Given the description of an element on the screen output the (x, y) to click on. 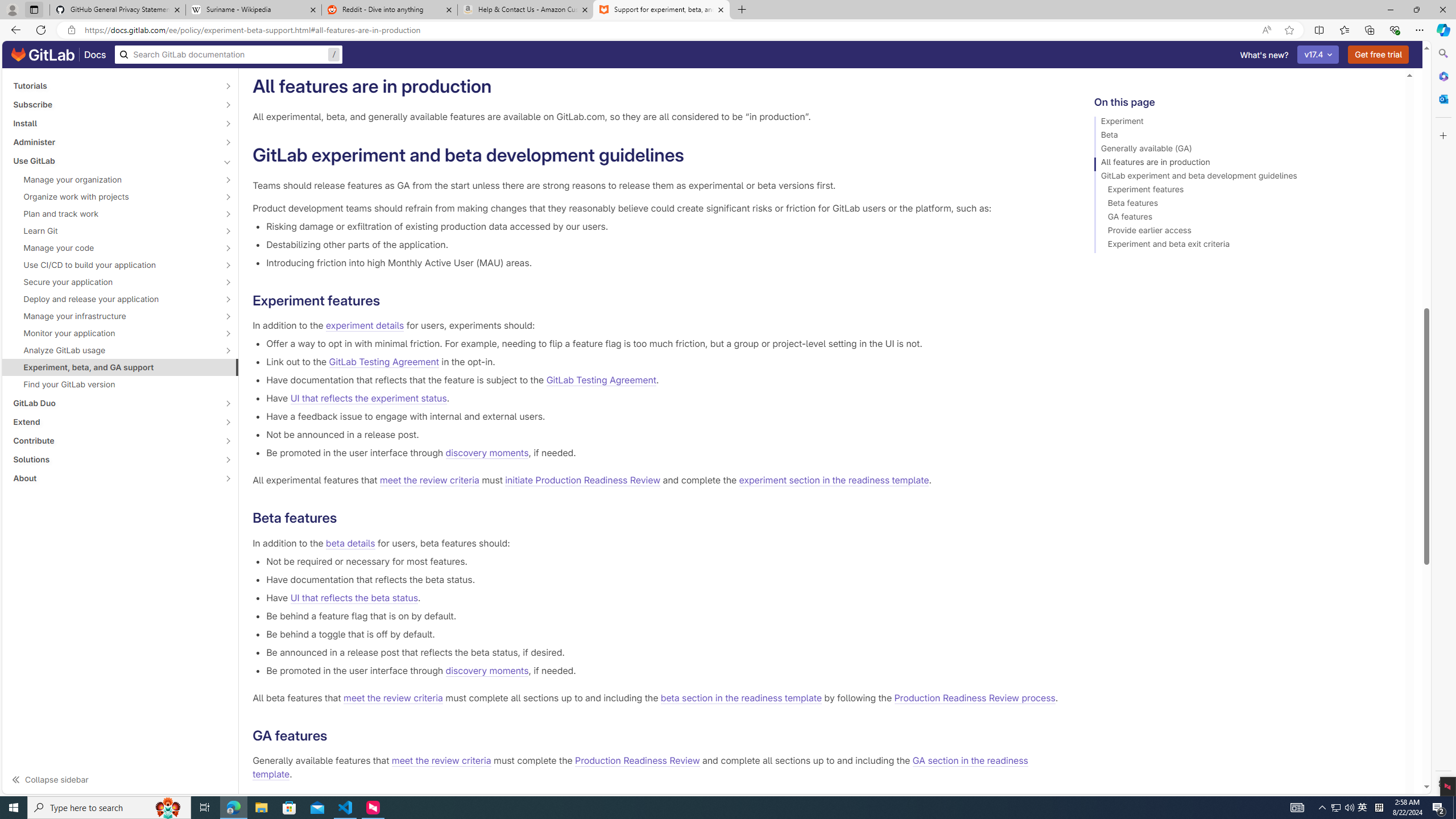
beta details (350, 543)
Experiment features (1244, 191)
meet the review criteria (441, 761)
Secure your application (113, 281)
Experiment (1244, 123)
discovery moments (486, 670)
Experiment features (1244, 191)
Link out to the GitLab Testing Agreement in the opt-in. (662, 361)
GA features (1244, 218)
Get free trial (1378, 54)
Beta (1244, 136)
